Given the description of an element on the screen output the (x, y) to click on. 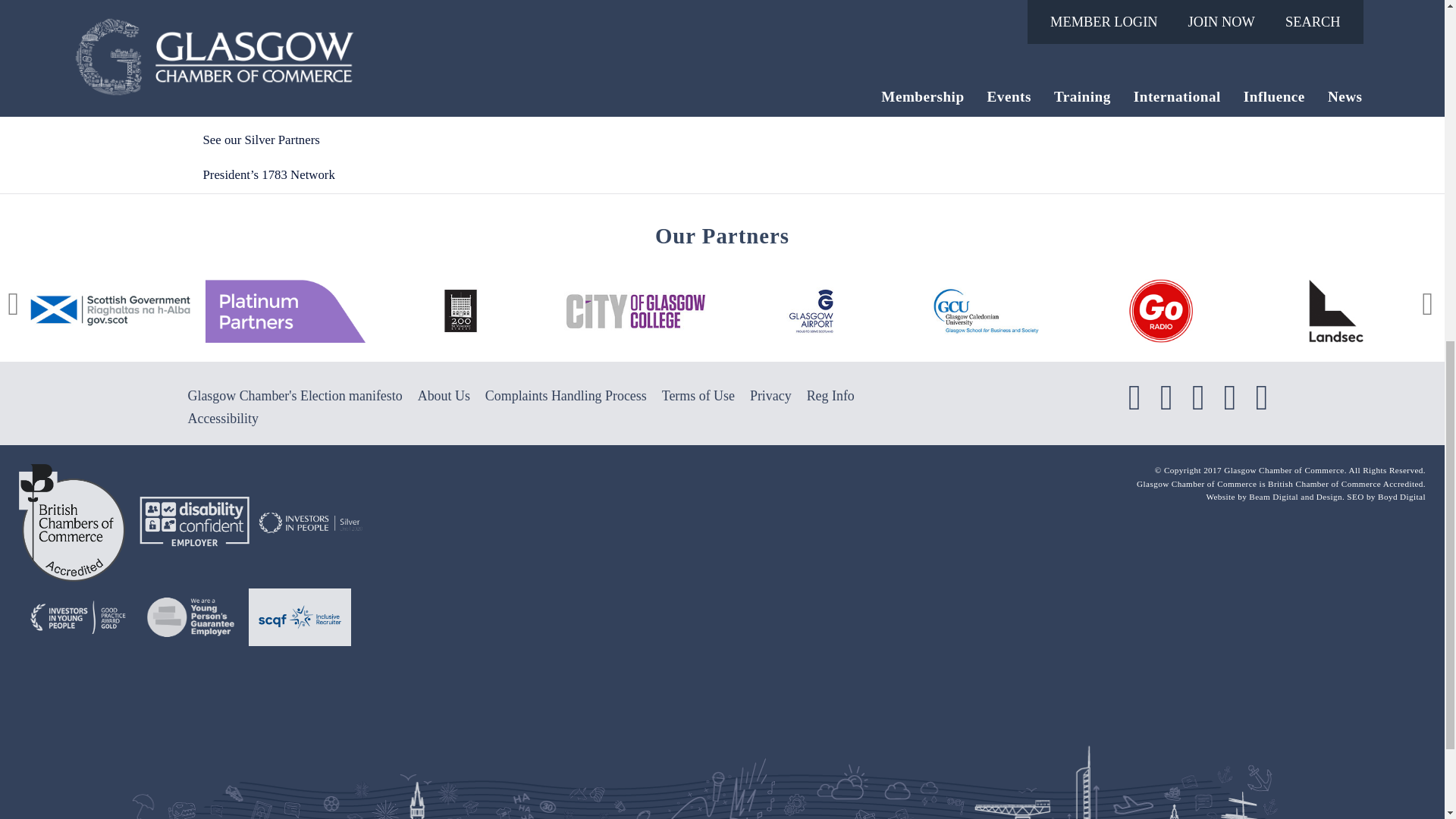
Uber (373, 17)
University of Strathclyde (373, 72)
Website by Beam Digital and Design (1295, 496)
See our Gold Partners (361, 104)
See our Silver Partners (361, 140)
University of Glasgow (373, 44)
The Prince and Princess of Wales Hospice (373, 2)
